Given the description of an element on the screen output the (x, y) to click on. 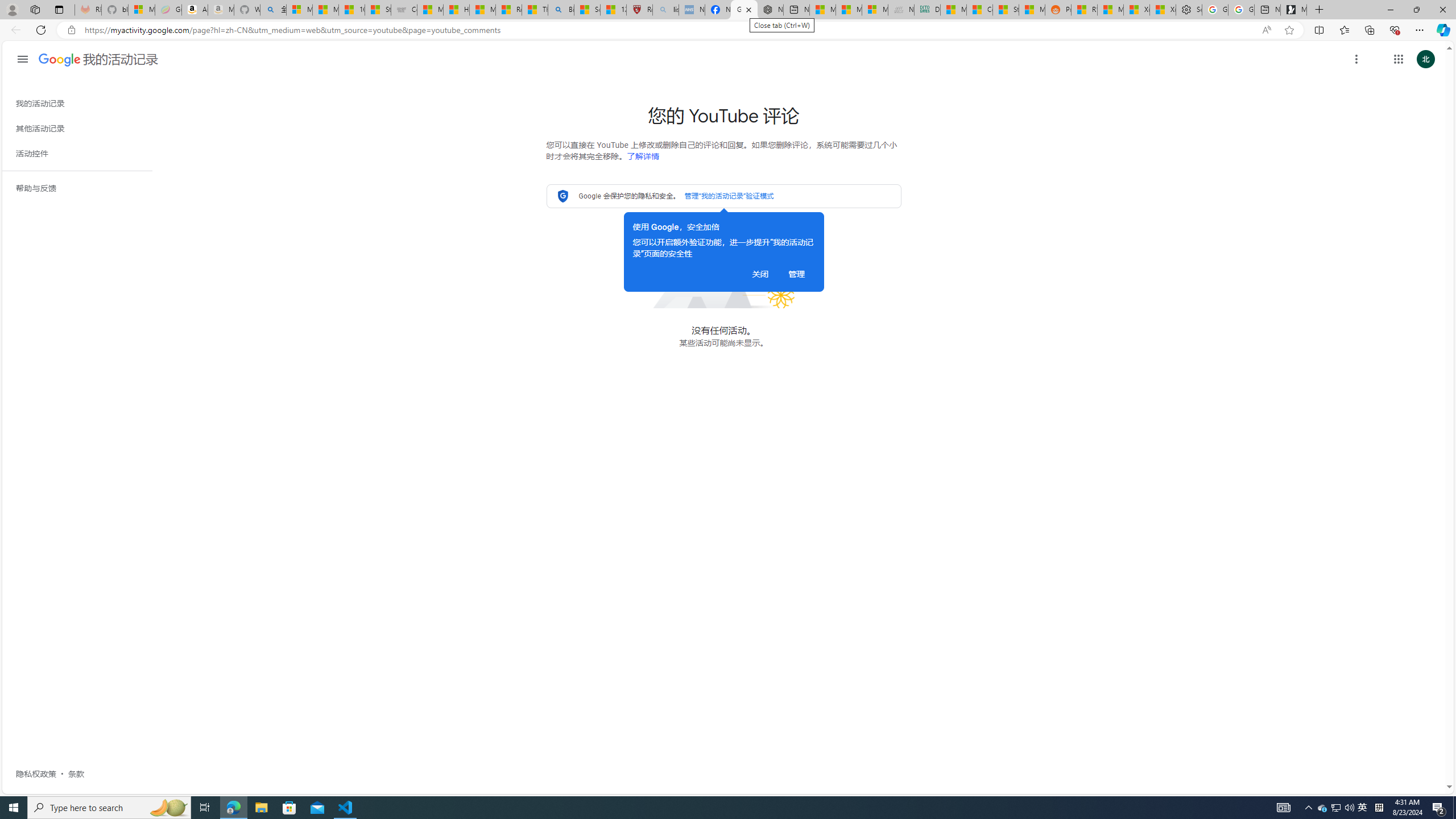
Navy Quest (900, 9)
MSNBC - MSN (953, 9)
Class: gb_Vc (81, 434)
